Given the description of an element on the screen output the (x, y) to click on. 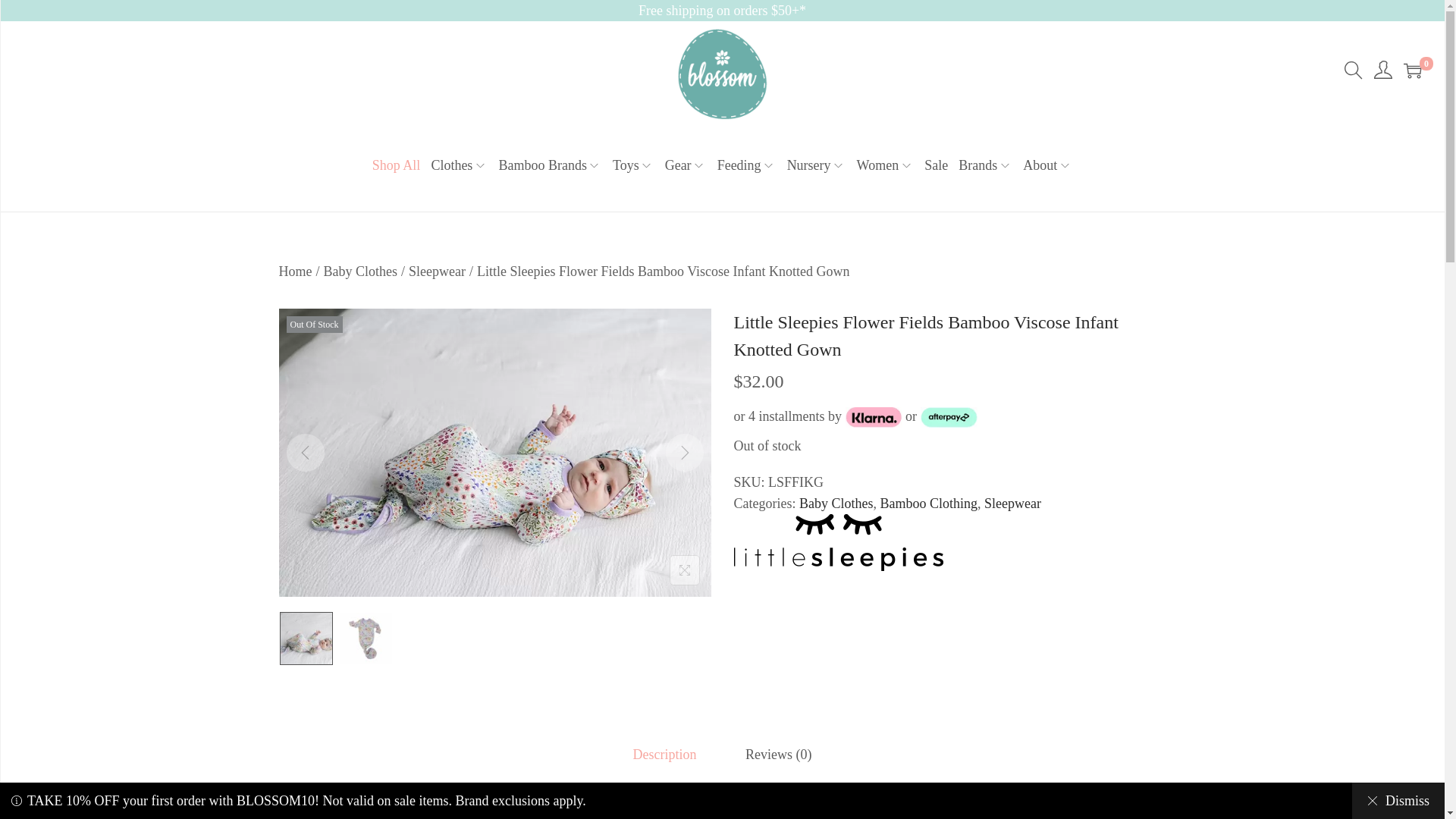
0 (1412, 70)
